Given the description of an element on the screen output the (x, y) to click on. 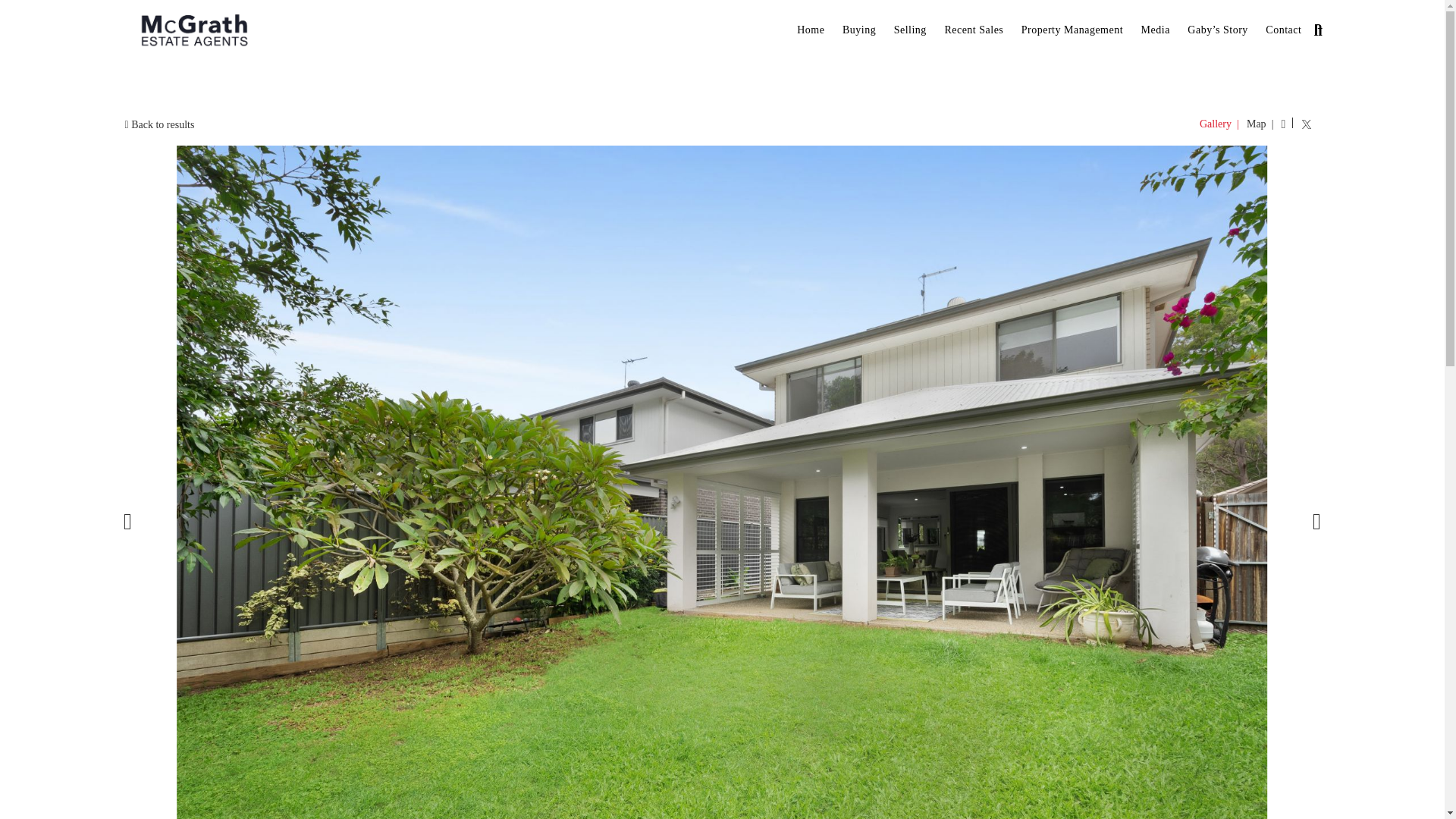
Gallery (1214, 124)
Map (1256, 124)
Back to results (159, 123)
prev (127, 519)
Back to results (159, 123)
Property Management (1072, 30)
Recent Sales (973, 30)
